Given the description of an element on the screen output the (x, y) to click on. 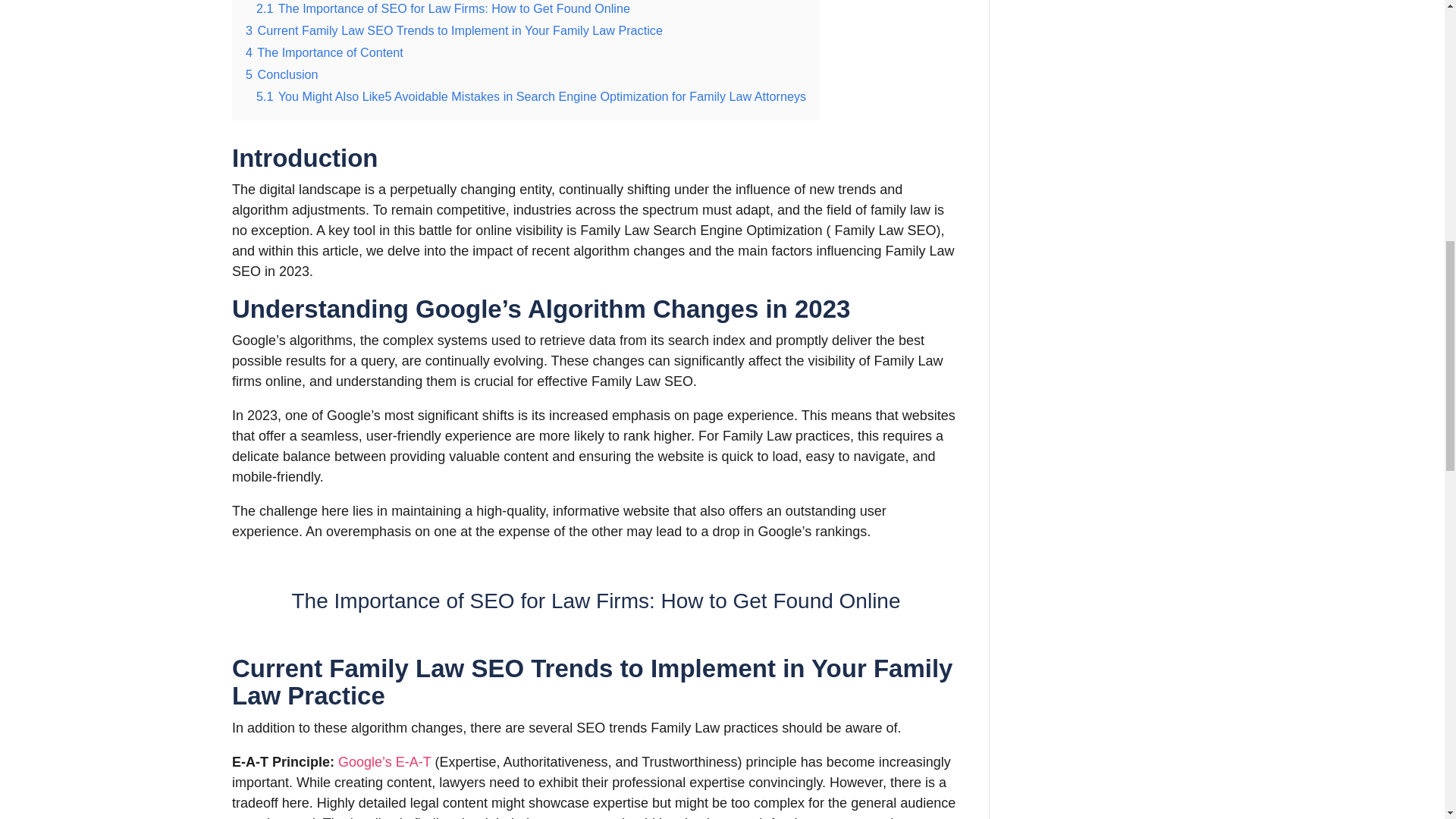
5 Conclusion (282, 74)
The Importance of SEO for Law Firms: How to Get Found Online (596, 600)
4 The Importance of Content (324, 51)
